Given the description of an element on the screen output the (x, y) to click on. 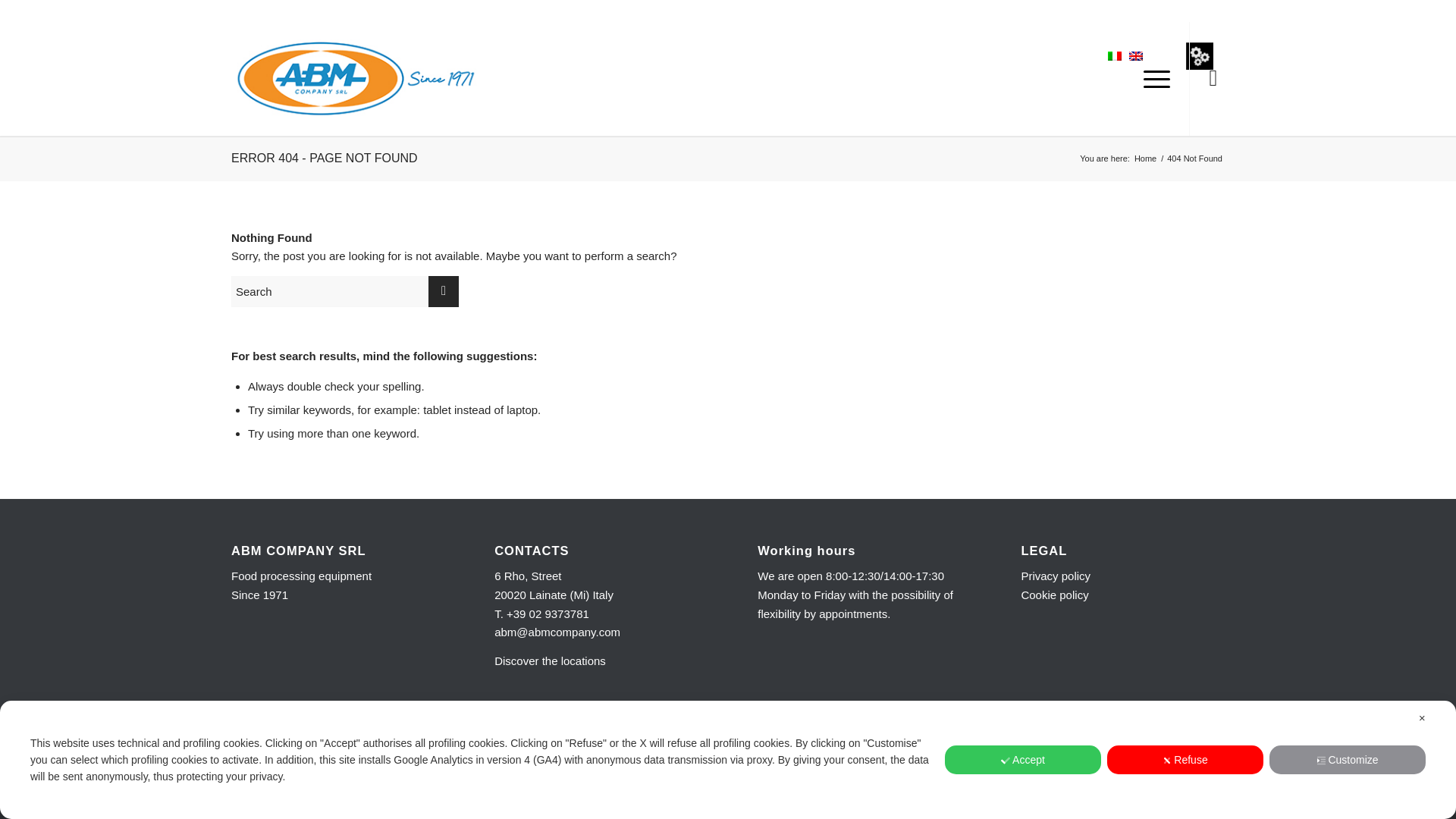
ABM Company (1145, 158)
Youtube (1213, 744)
Discover the locations (550, 660)
Privacy Policy (1152, 745)
Privacy policy (1055, 575)
Home (1145, 158)
Youtube (1213, 77)
Spare Parts (1199, 55)
Cookie policy (1053, 594)
Logo-ABM-COMPANY-2013 (355, 78)
